Given the description of an element on the screen output the (x, y) to click on. 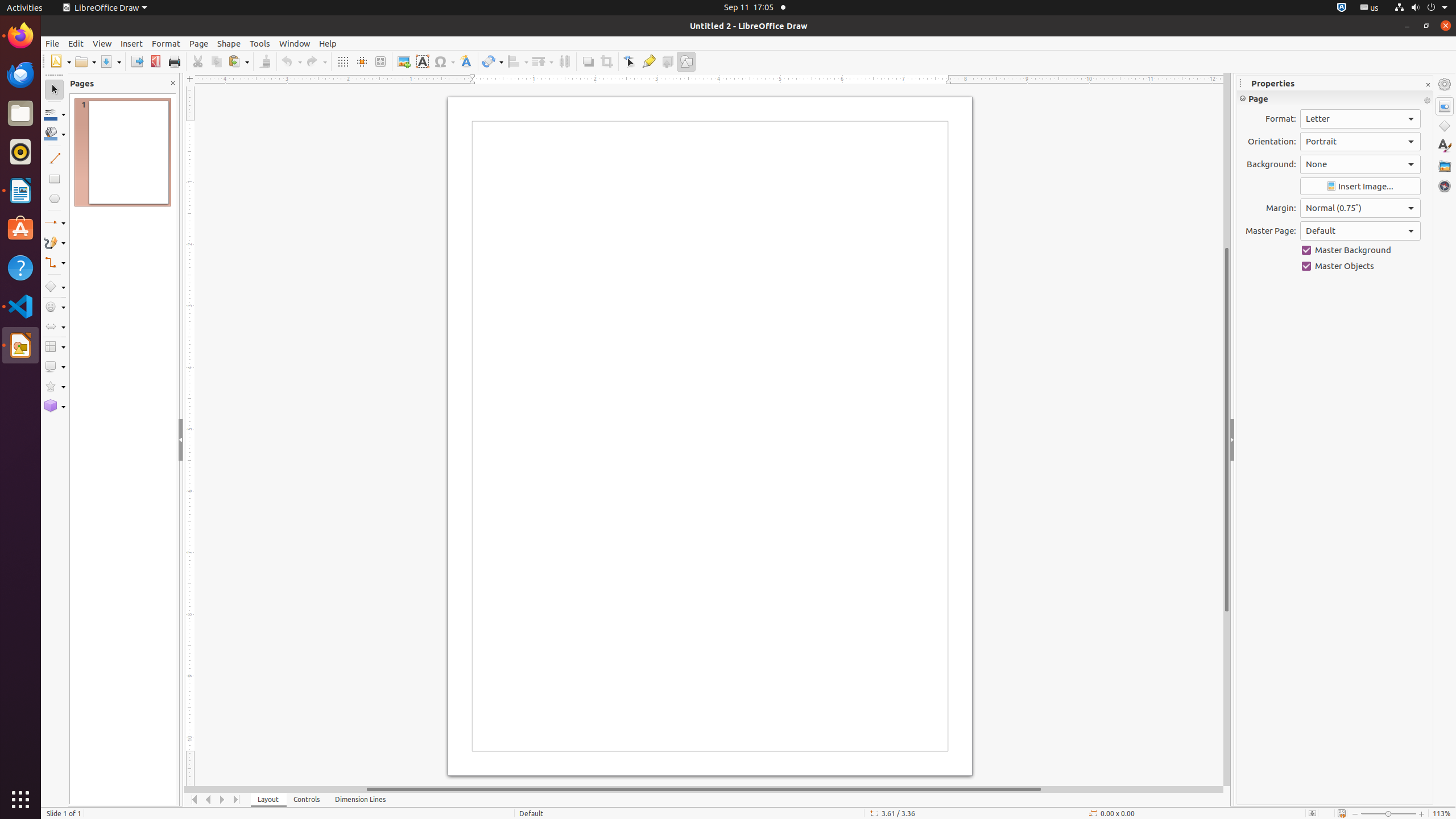
File Element type: menu (51, 43)
Visual Studio Code Element type: push-button (20, 306)
Close Pane Element type: push-button (172, 82)
Show Applications Element type: toggle-button (20, 799)
Callout Shapes Element type: push-button (54, 366)
